Given the description of an element on the screen output the (x, y) to click on. 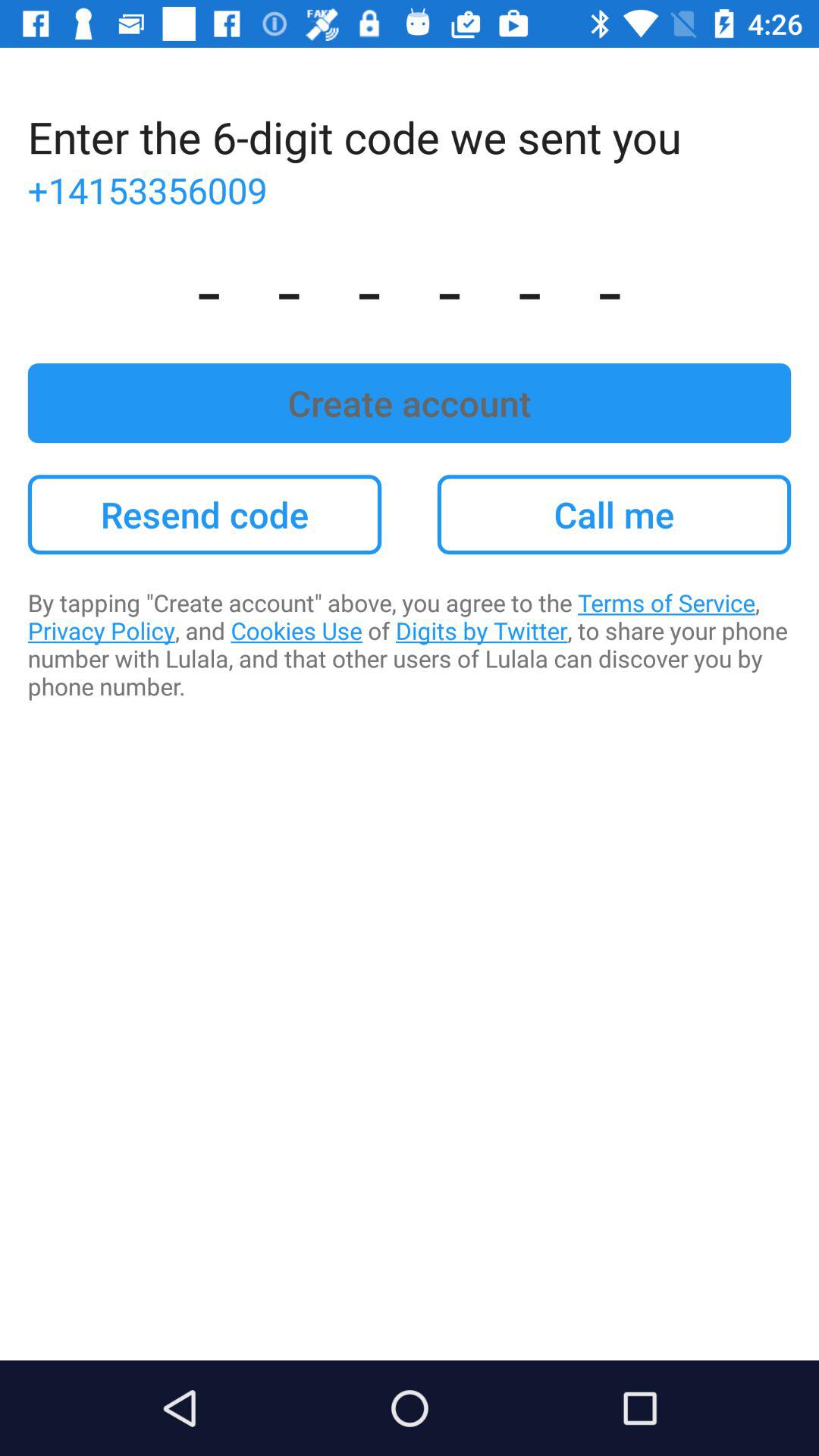
jump to +14153356009 item (409, 190)
